Given the description of an element on the screen output the (x, y) to click on. 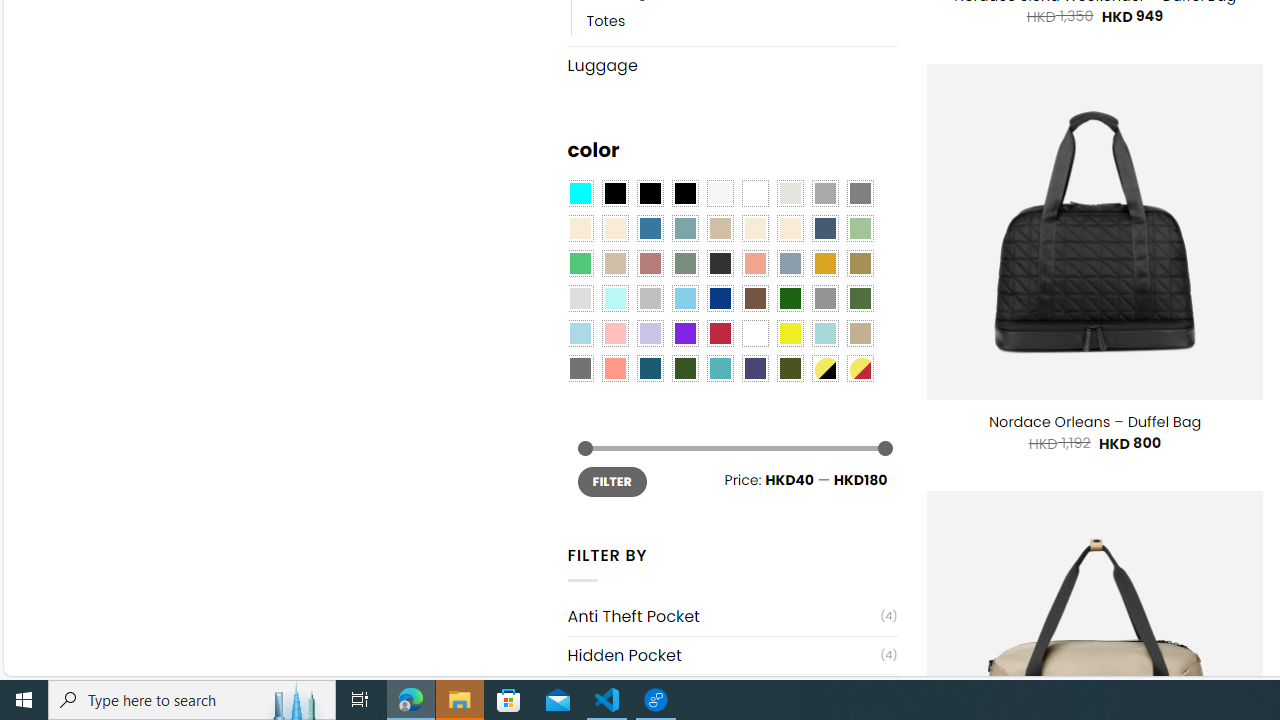
Totes (605, 20)
Gray (824, 298)
Teal (719, 368)
Yellow (789, 334)
Rose (650, 264)
Khaki (859, 334)
Laptop Sleeve(3) (732, 693)
Beige-Brown (614, 228)
Aqua Blue (579, 193)
Anti Theft Pocket (723, 616)
Purple (684, 334)
Navy Blue (719, 298)
Black (650, 193)
Red (719, 334)
Black-Brown (684, 193)
